Given the description of an element on the screen output the (x, y) to click on. 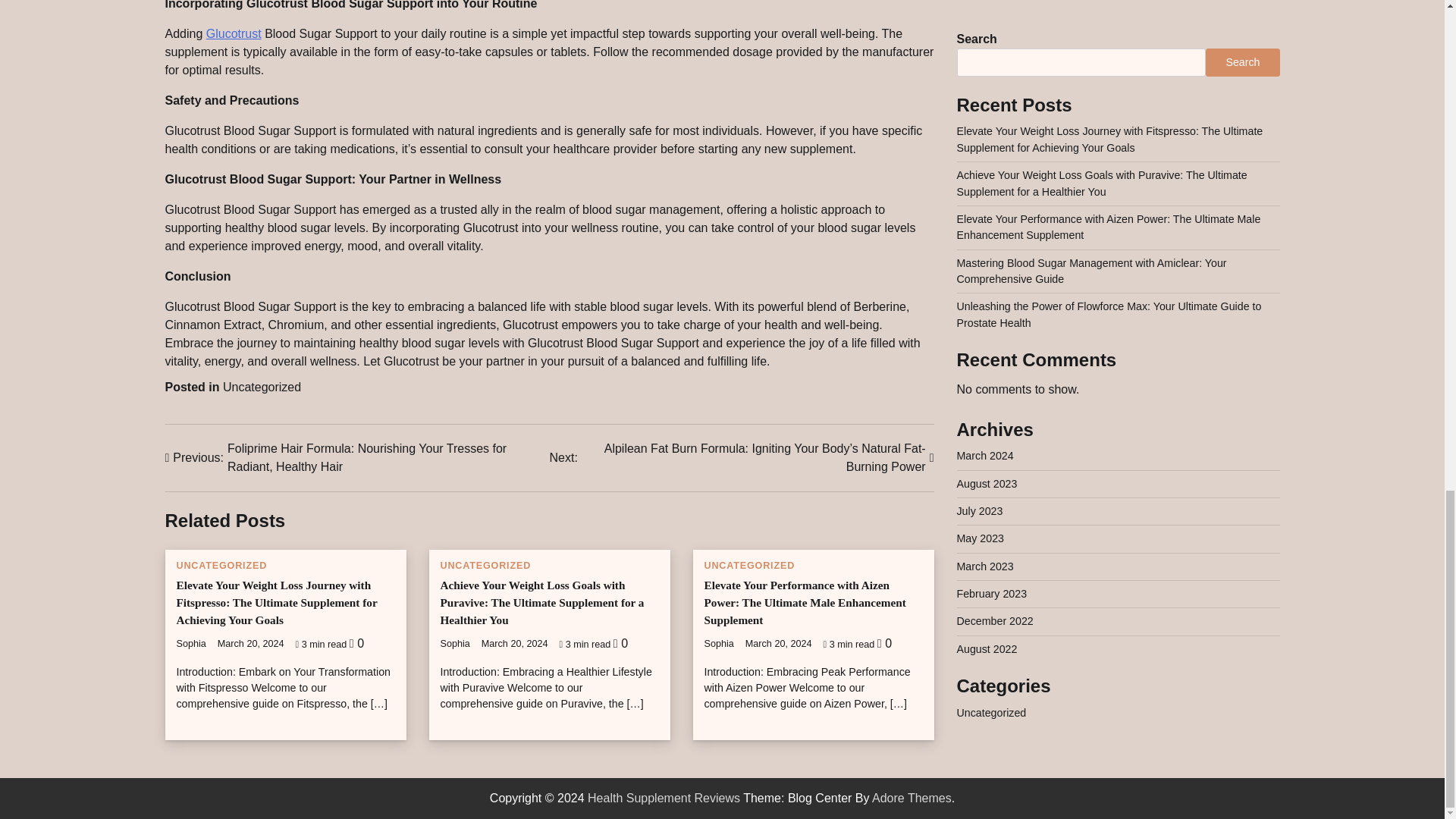
Health Supplement Reviews (663, 797)
UNCATEGORIZED (485, 565)
Uncategorized (261, 386)
UNCATEGORIZED (221, 565)
Sophia (453, 643)
Glucotrust (234, 33)
Sophia (718, 643)
Sophia (190, 643)
UNCATEGORIZED (748, 565)
